Given the description of an element on the screen output the (x, y) to click on. 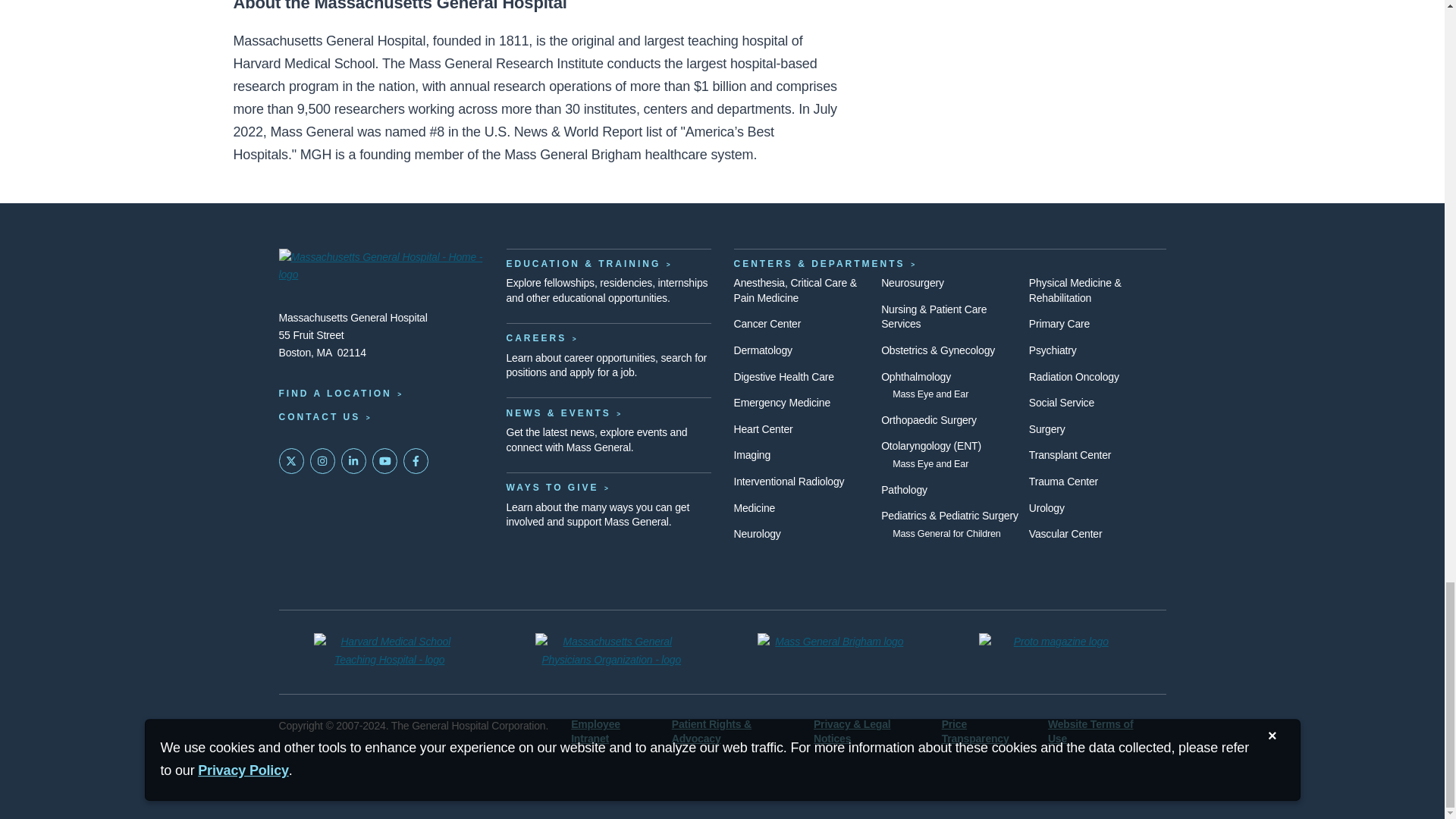
Massachusetts General Hospital - Home (381, 267)
